Given the description of an element on the screen output the (x, y) to click on. 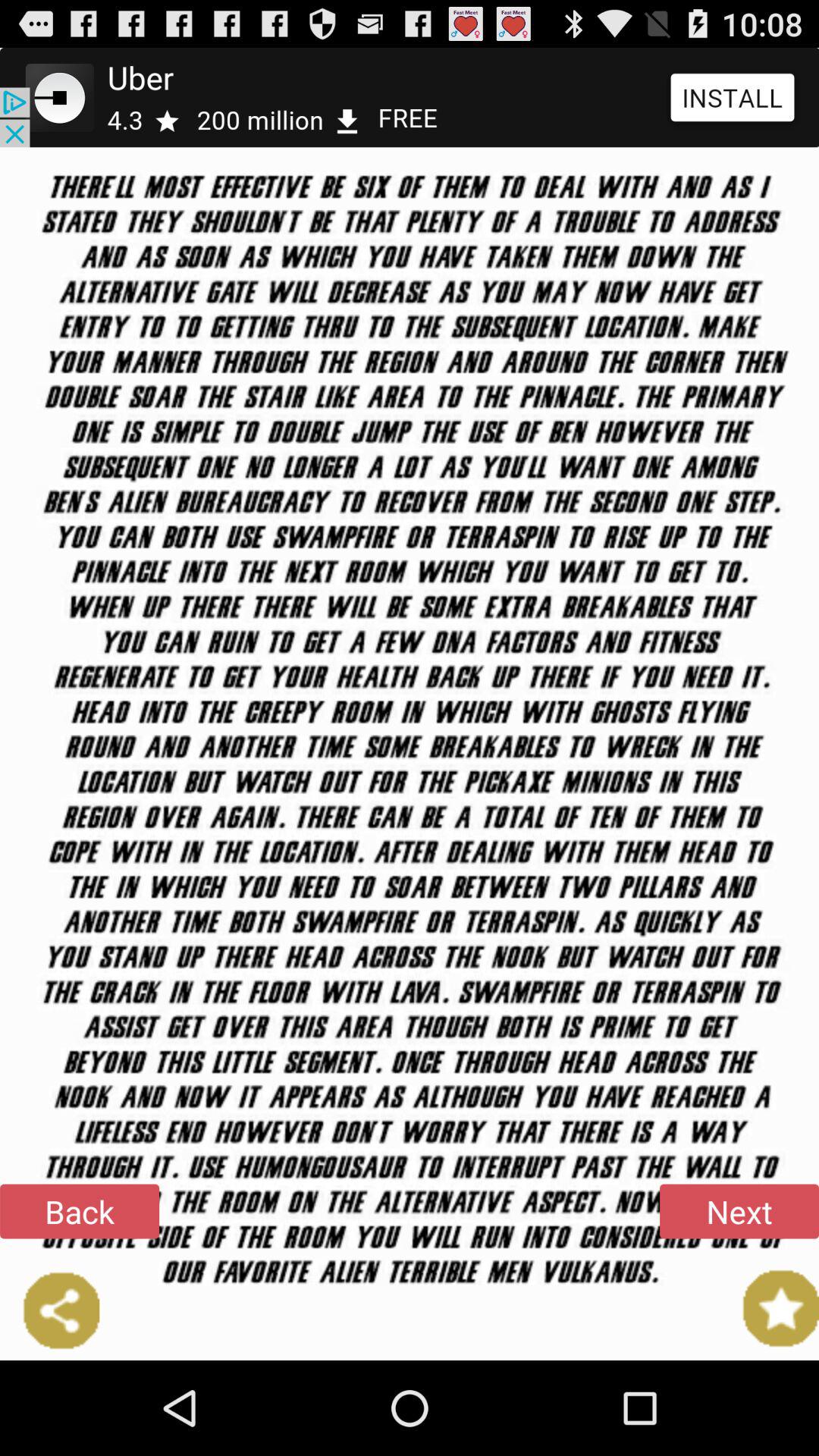
turn off the item below the back icon (49, 1310)
